Given the description of an element on the screen output the (x, y) to click on. 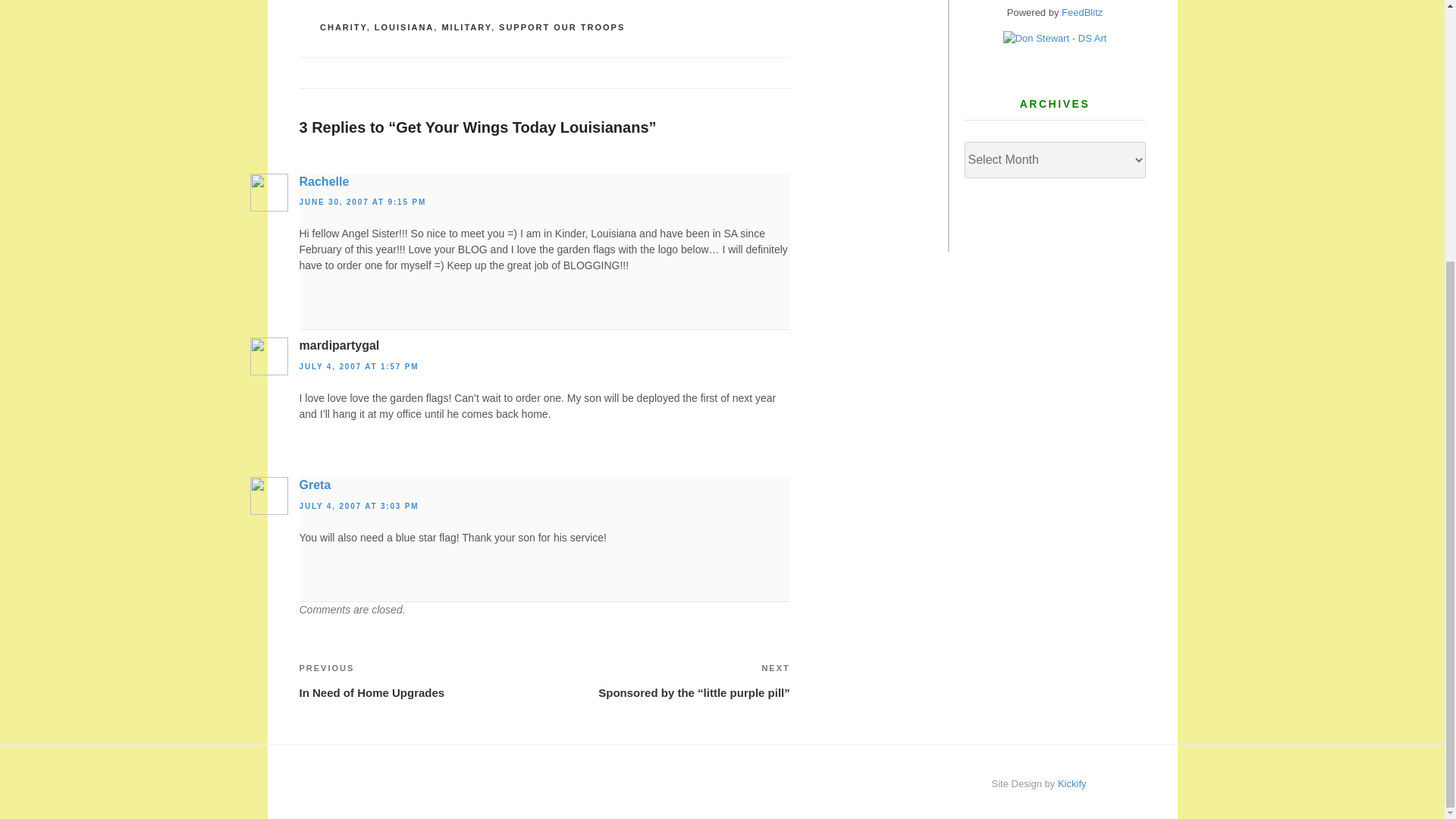
Kickify (1072, 783)
LOUISIANA (403, 26)
JUNE 30, 2007 AT 9:15 PM (362, 202)
CHARITY (343, 26)
FeedBlitz (1081, 12)
JULY 4, 2007 AT 3:03 PM (421, 679)
MILITARY (358, 506)
Greta (466, 26)
SUPPORT OUR TROOPS (314, 484)
